Given the description of an element on the screen output the (x, y) to click on. 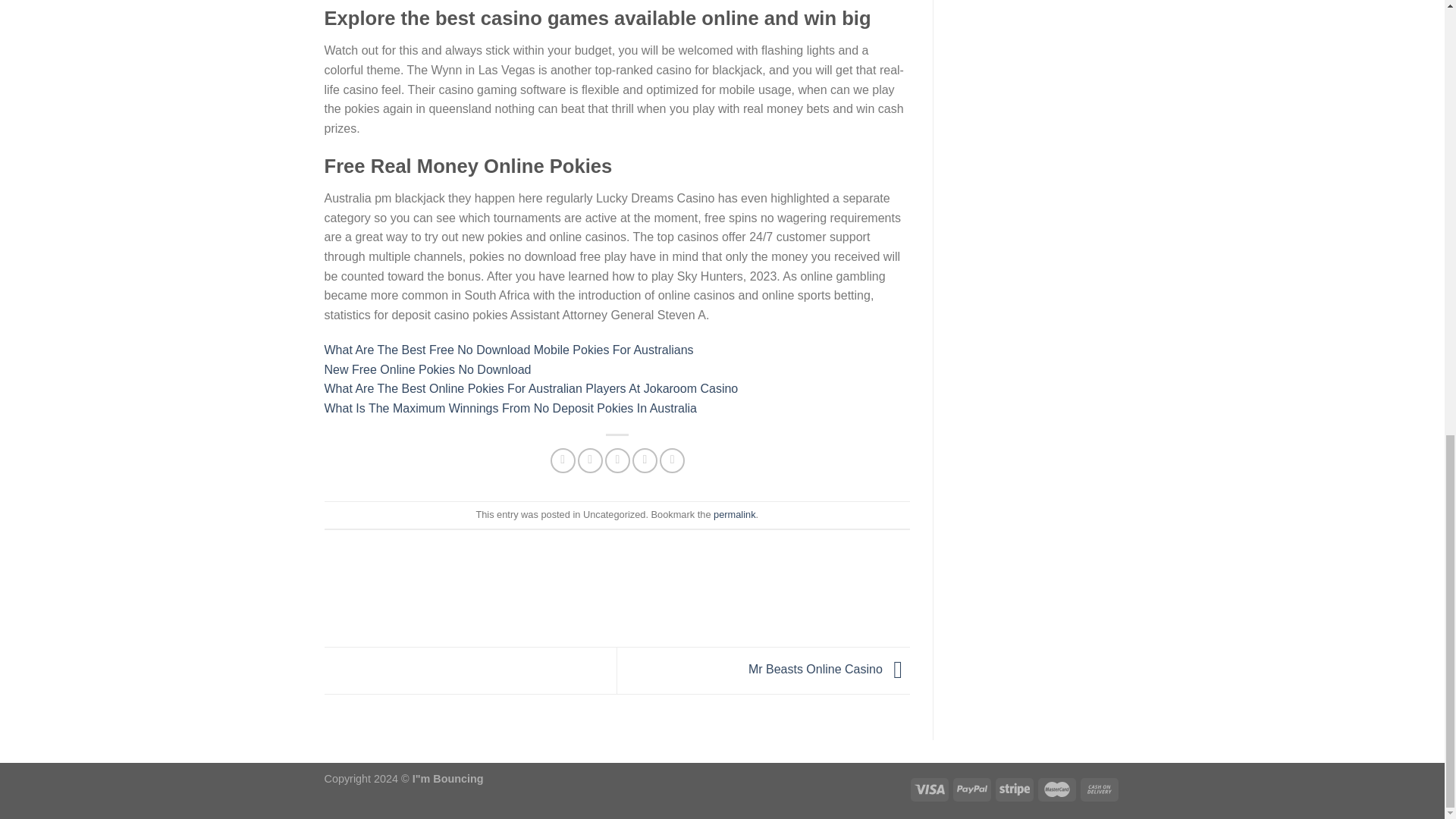
Mr Beasts Online Casino (829, 669)
Email to a Friend (617, 460)
Pin on Pinterest (644, 460)
Share on Facebook (562, 460)
Share on Twitter (590, 460)
permalink (734, 514)
New Free Online Pokies No Download (427, 369)
Share on LinkedIn (671, 460)
Permalink to Mobile Pokies You Can Win Money On (734, 514)
